Given the description of an element on the screen output the (x, y) to click on. 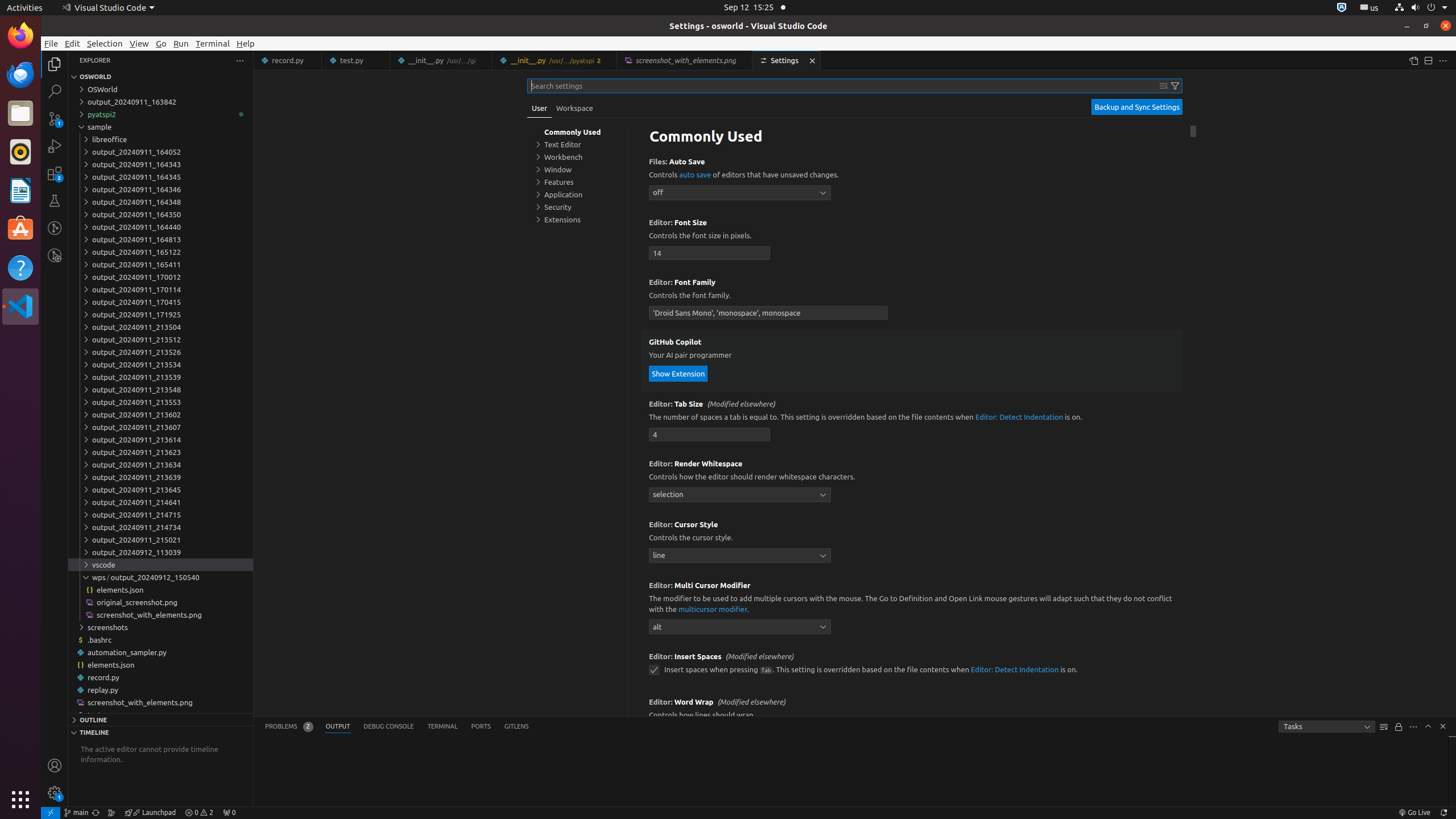
editor.tabSize Element type: spin-button (709, 433)
output_20240911_213607 Element type: tree-item (160, 426)
Warnings: 2 Element type: push-button (199, 812)
output_20240911_213639 Element type: tree-item (160, 476)
